Given the description of an element on the screen output the (x, y) to click on. 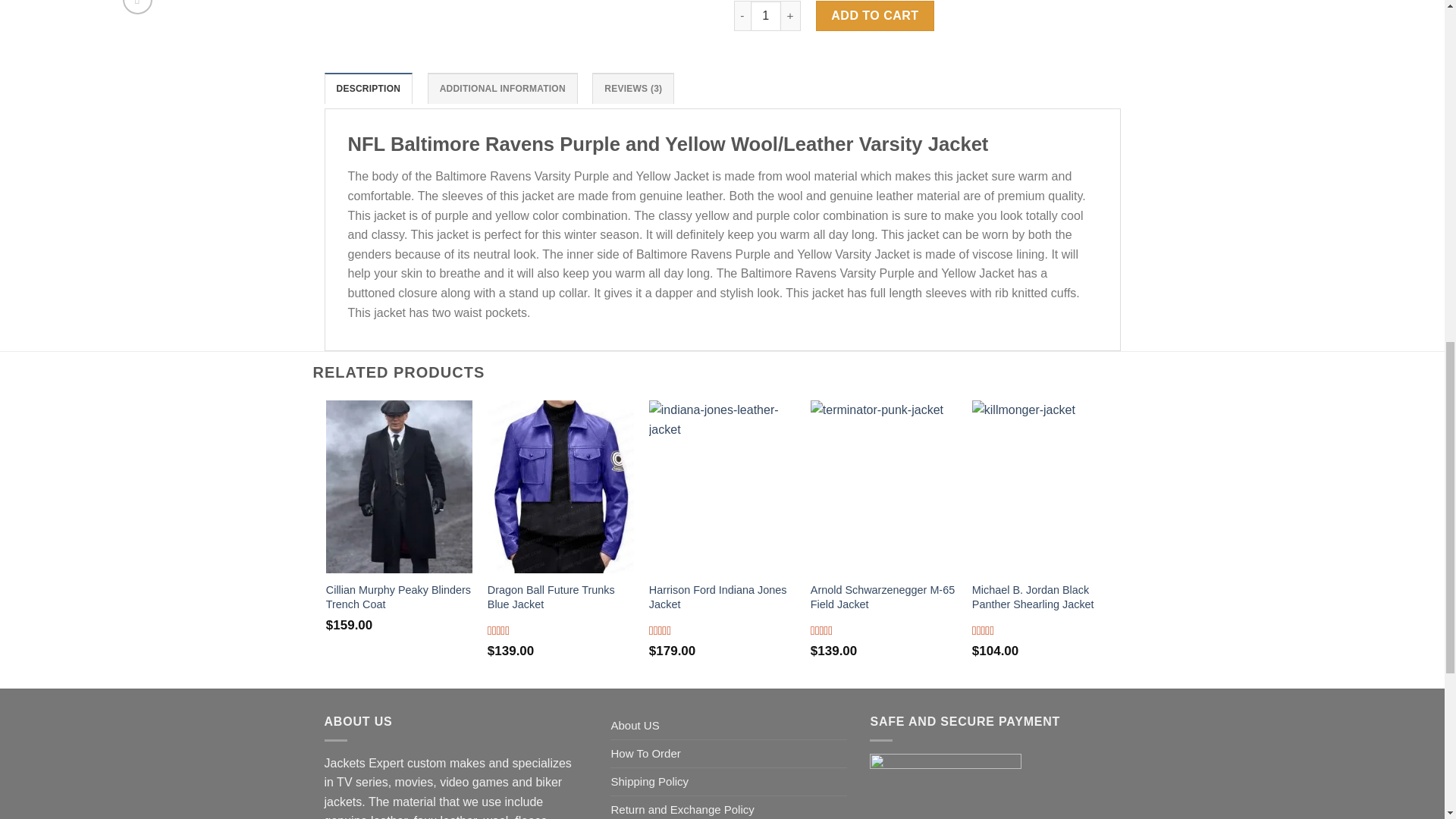
1 (765, 15)
baltimore-ravens-purple-and-yellow-varsity-jacket (980, 11)
baltimore-ravens-varsity-purple-and-yellow-jacket (402, 11)
Zoom (137, 7)
Qty (765, 15)
